Given the description of an element on the screen output the (x, y) to click on. 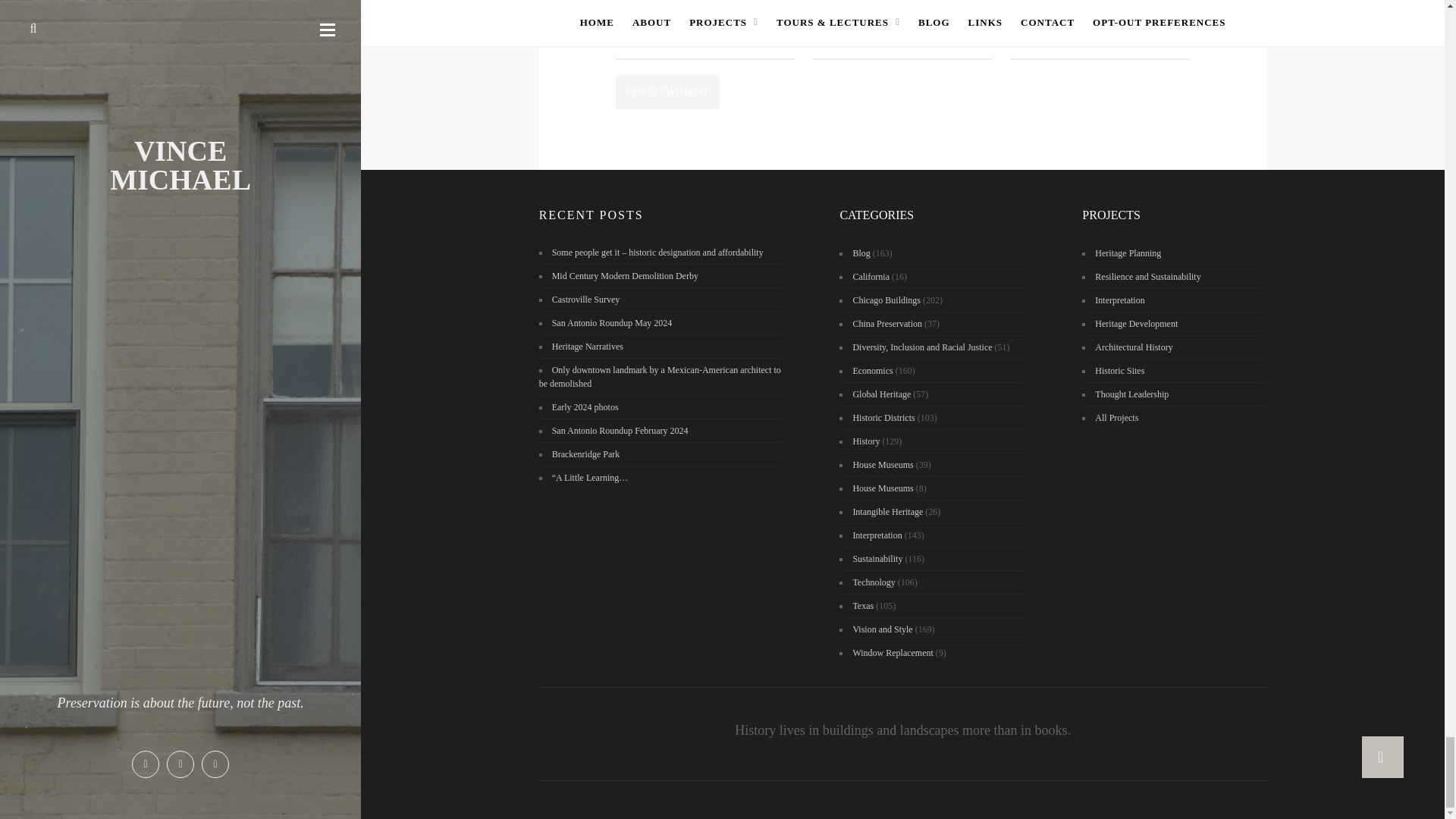
Post Comment (667, 91)
Post Comment (667, 91)
